Given the description of an element on the screen output the (x, y) to click on. 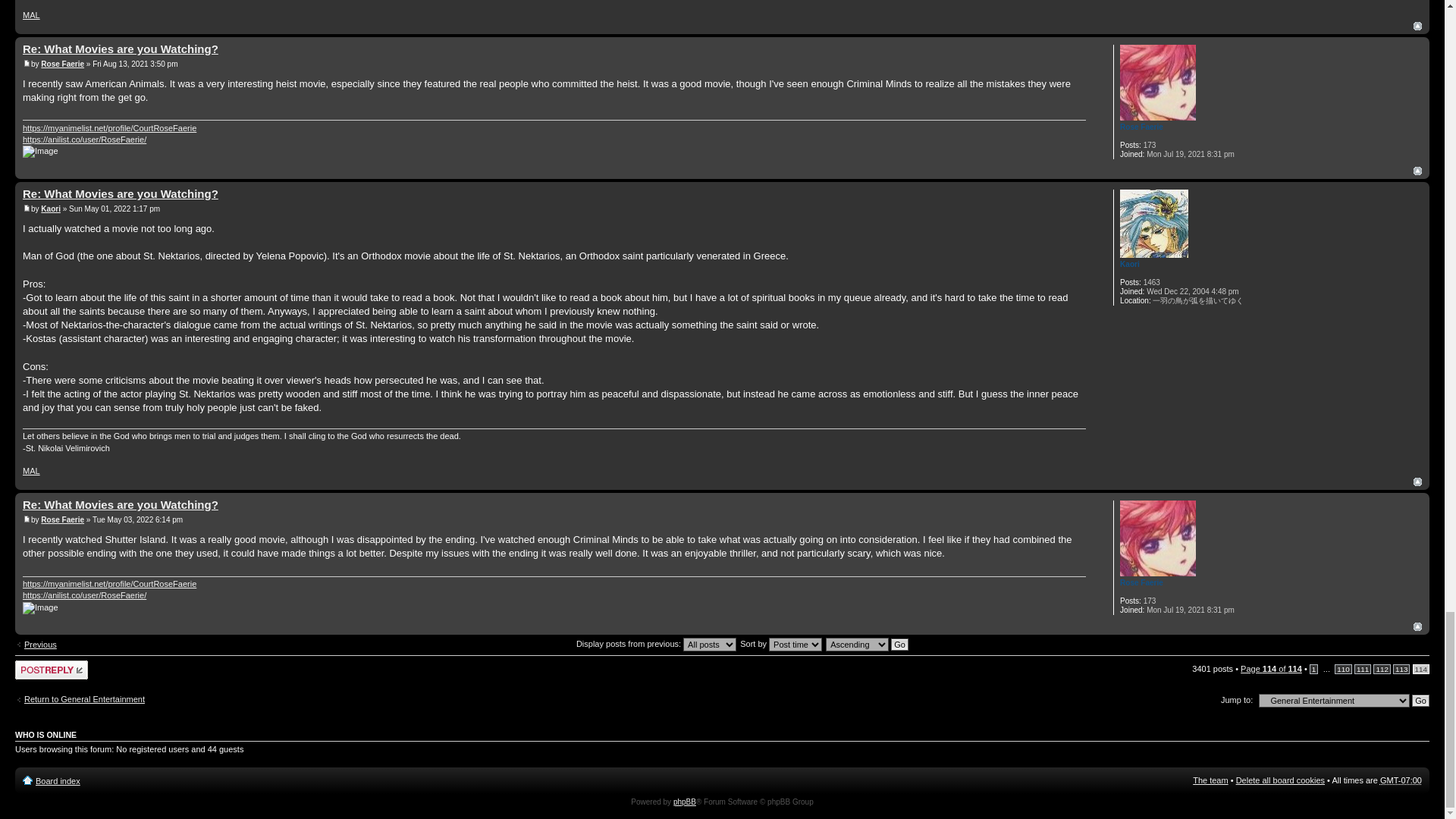
Go (1420, 700)
Go (899, 644)
